Given the description of an element on the screen output the (x, y) to click on. 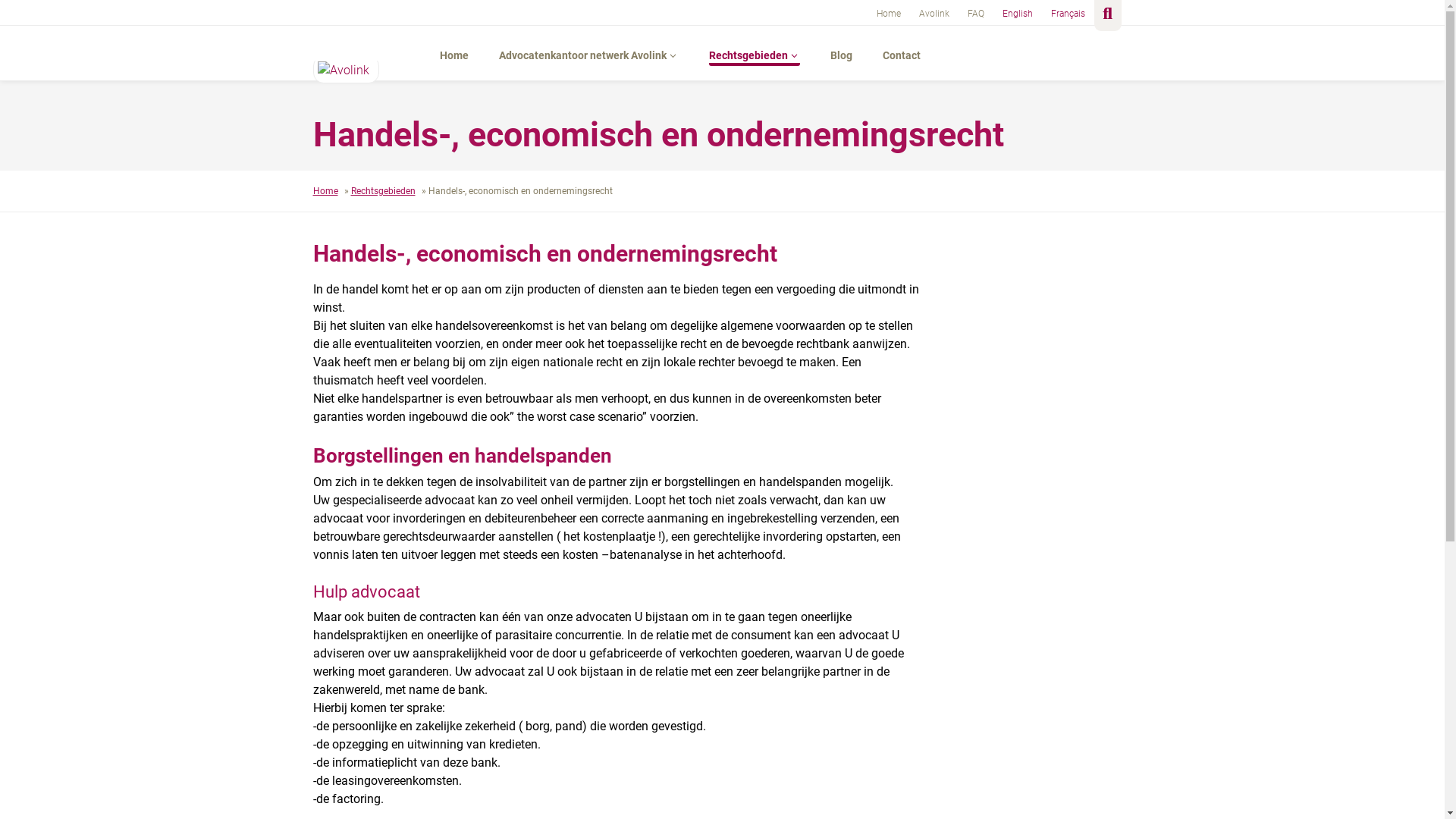
Home Element type: text (453, 52)
English Element type: text (1017, 12)
Rechtsgebieden Element type: text (382, 190)
Blog Element type: text (840, 52)
Home Element type: text (888, 12)
Contact Element type: text (901, 52)
Advocatenkantoor netwerk Avolink Element type: text (588, 52)
Home Element type: text (324, 190)
FAQ Element type: text (975, 12)
Avolink Element type: text (934, 12)
Rechtsgebieden Element type: text (753, 52)
